Given the description of an element on the screen output the (x, y) to click on. 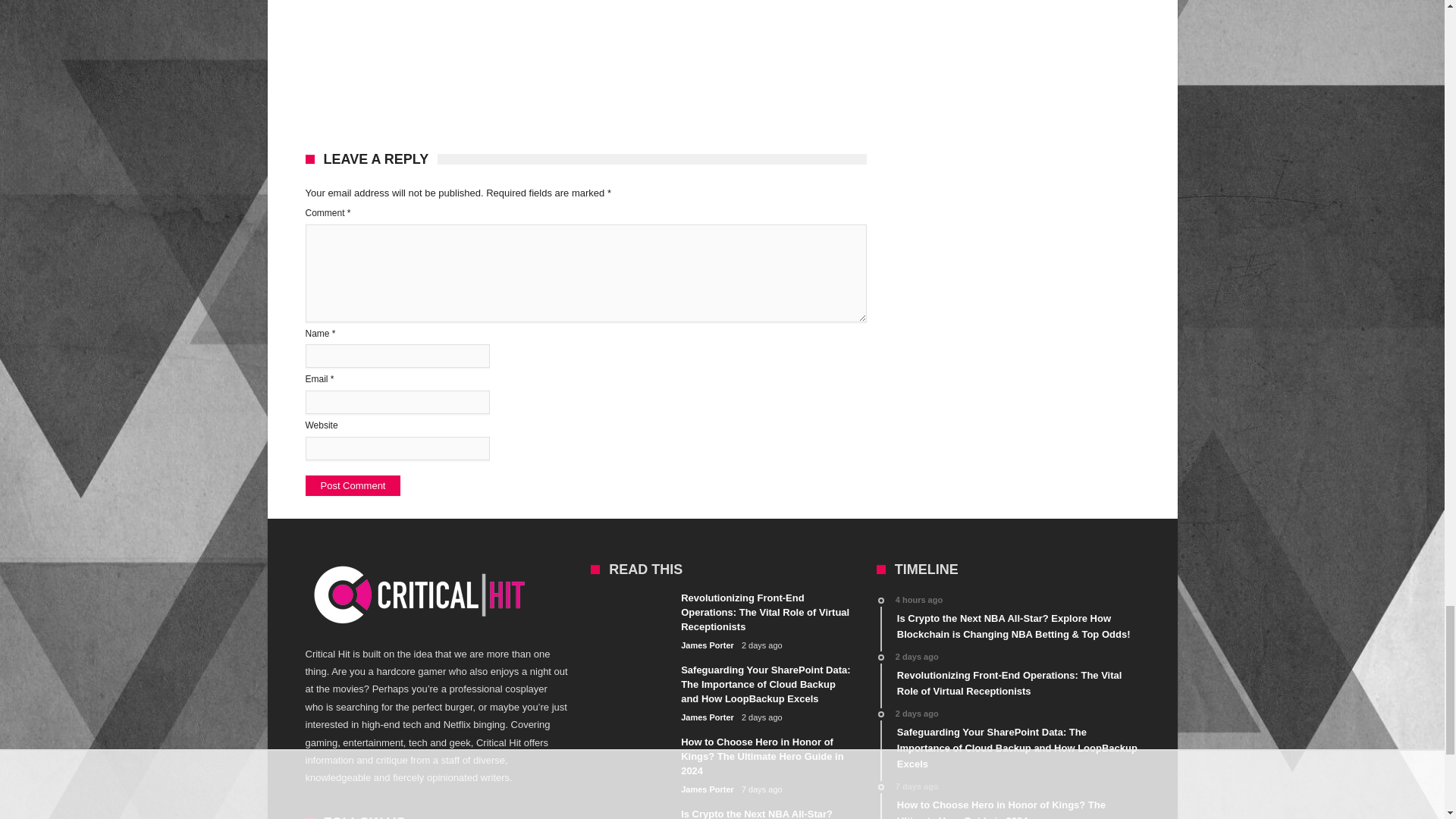
Post Comment (352, 485)
